Given the description of an element on the screen output the (x, y) to click on. 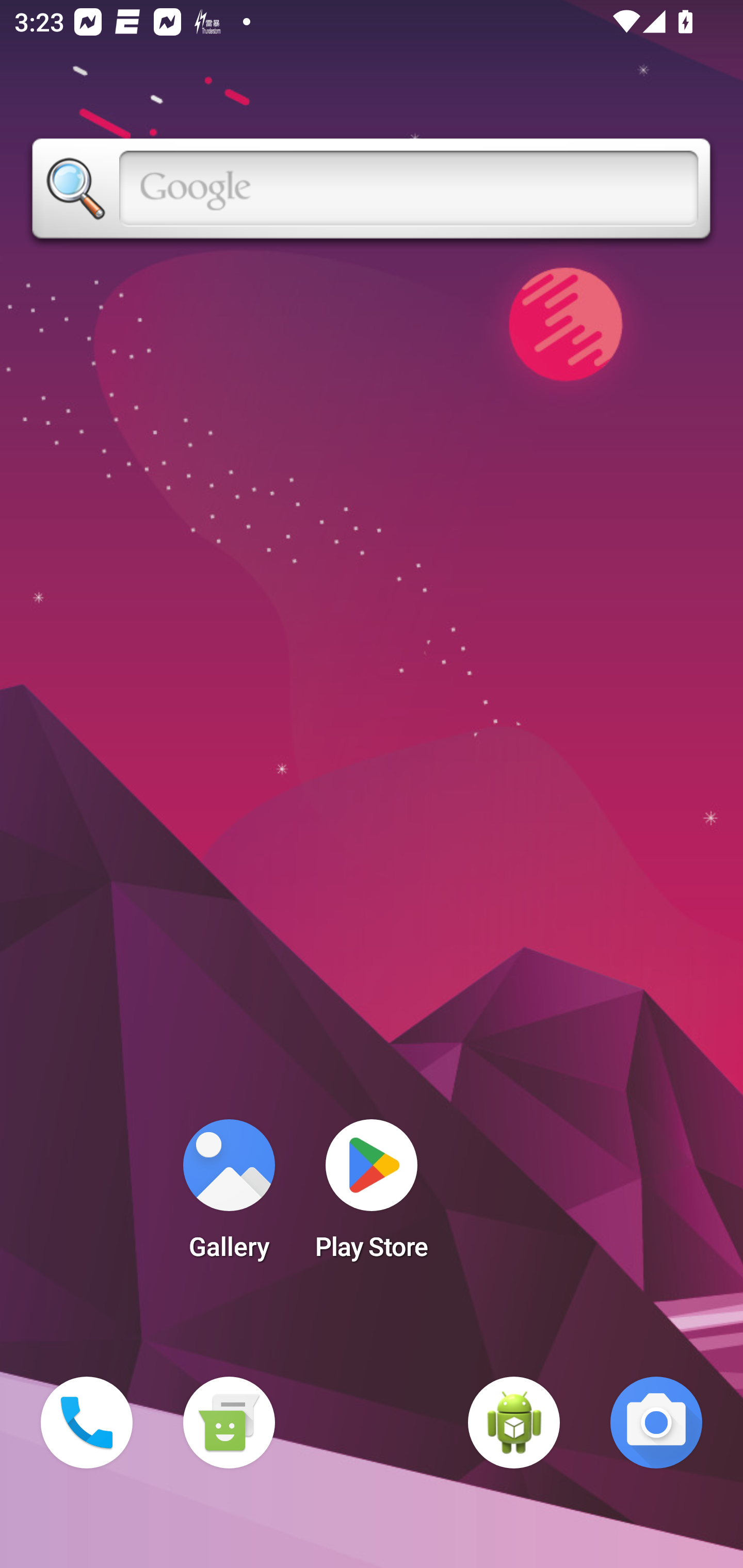
Gallery (228, 1195)
Play Store (371, 1195)
Phone (86, 1422)
Messaging (228, 1422)
WebView Browser Tester (513, 1422)
Camera (656, 1422)
